Given the description of an element on the screen output the (x, y) to click on. 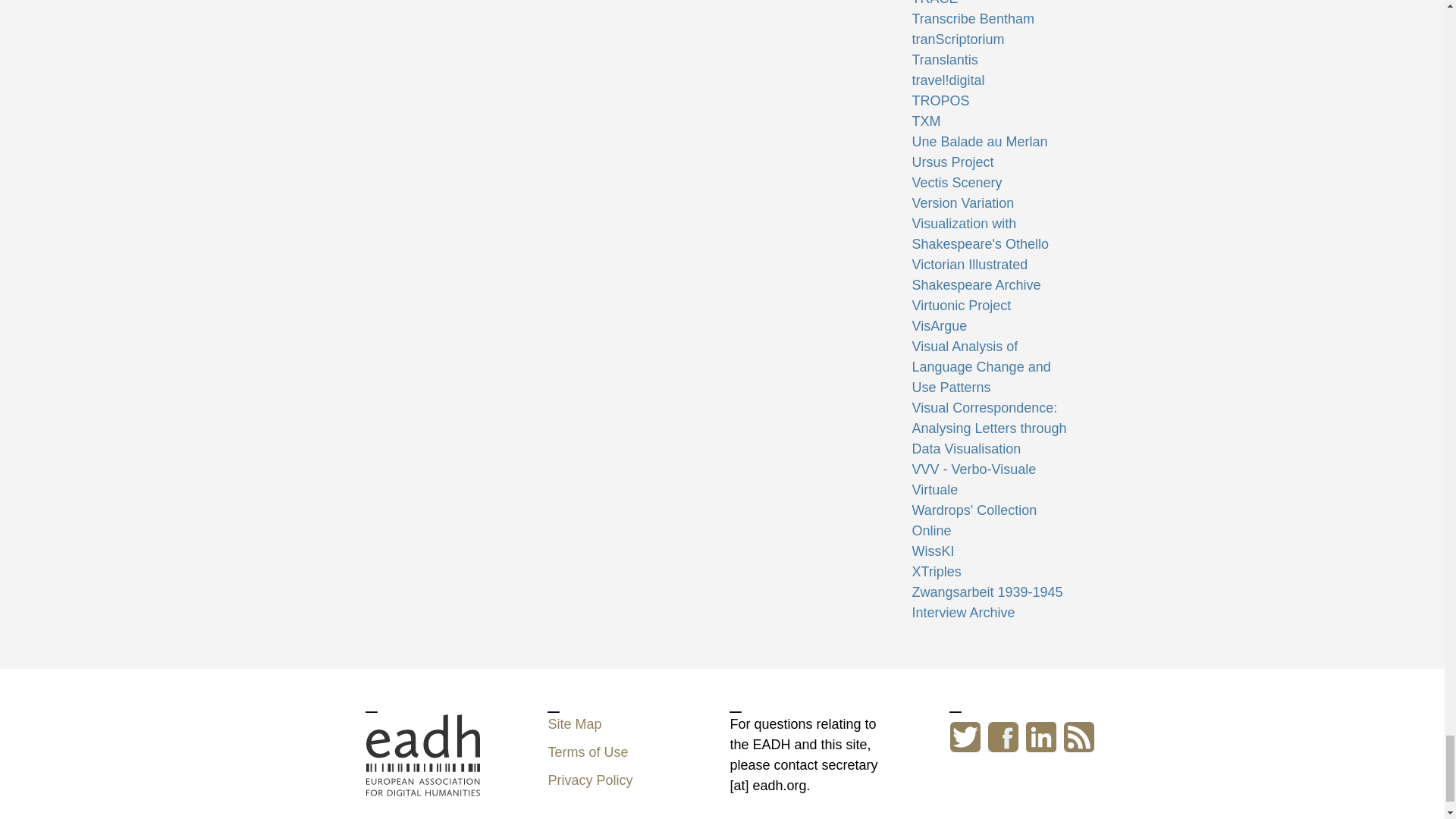
EADH - European Association for Digital Humanities (422, 755)
EADH - European Association for Digital Humanities (422, 785)
